Given the description of an element on the screen output the (x, y) to click on. 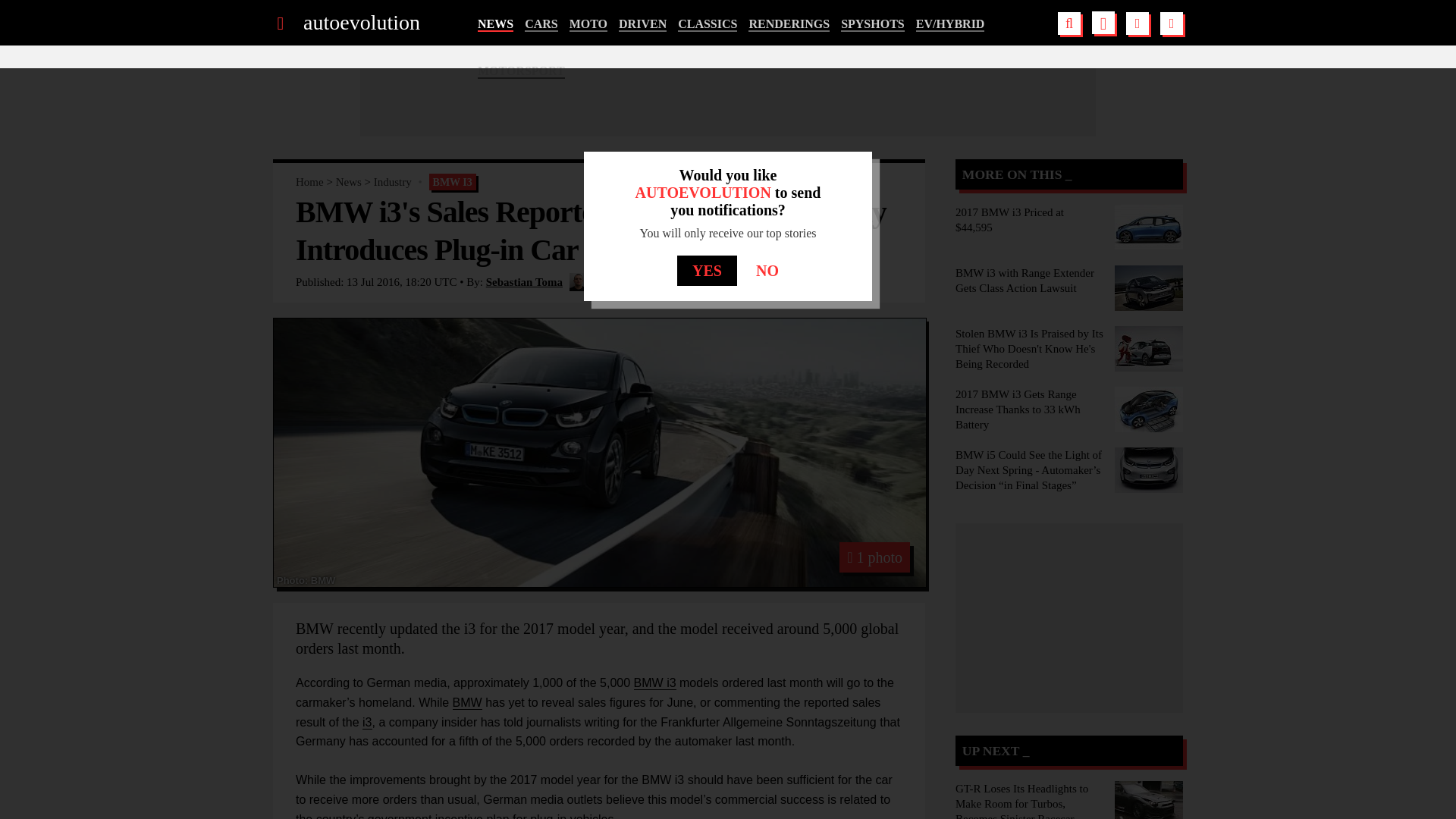
MOTORSPORT (520, 71)
RENDERINGS (788, 24)
Home (309, 182)
CLASSICS (707, 24)
News (348, 182)
DRIVEN (642, 24)
Industry (393, 182)
NEWS (495, 24)
CARS (540, 24)
SPYSHOTS (872, 24)
autoevolution (361, 22)
MOTO (588, 24)
autoevolution (361, 22)
